Given the description of an element on the screen output the (x, y) to click on. 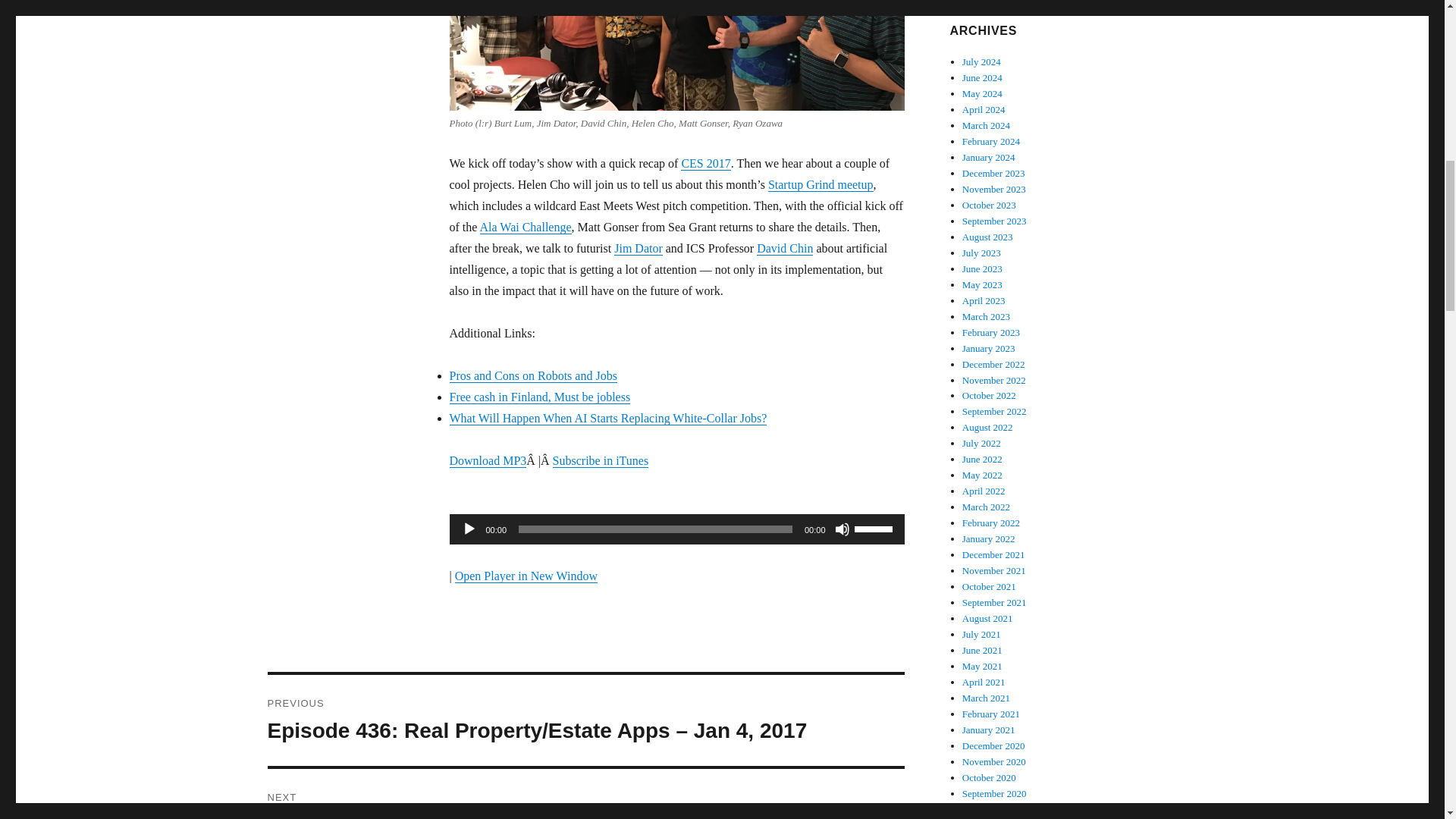
Subscribe in iTunes (601, 460)
David Chin (784, 247)
Open Player in New Window (525, 575)
March 2024 (986, 125)
Play (468, 529)
December 2023 (993, 173)
May 2024 (982, 93)
February 2024 (991, 141)
Ala Wai Challenge (524, 226)
What Will Happen When AI Starts Replacing White-Collar Jobs? (607, 418)
Mute (841, 529)
Startup Grind meetup (820, 184)
CES 2017 (705, 163)
January 2024 (988, 156)
April 2024 (984, 109)
